Given the description of an element on the screen output the (x, y) to click on. 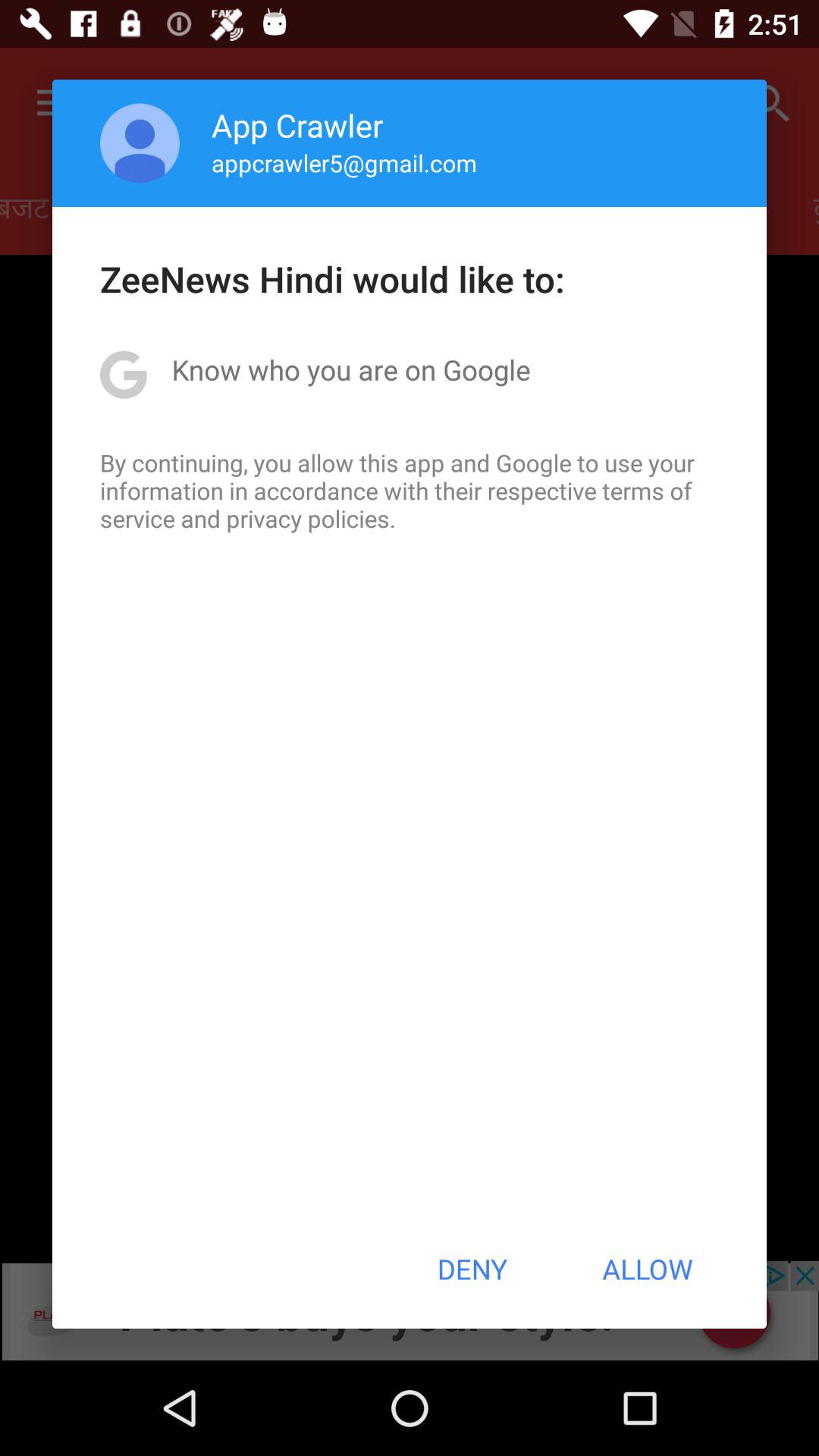
press the appcrawler5@gmail.com (344, 162)
